Given the description of an element on the screen output the (x, y) to click on. 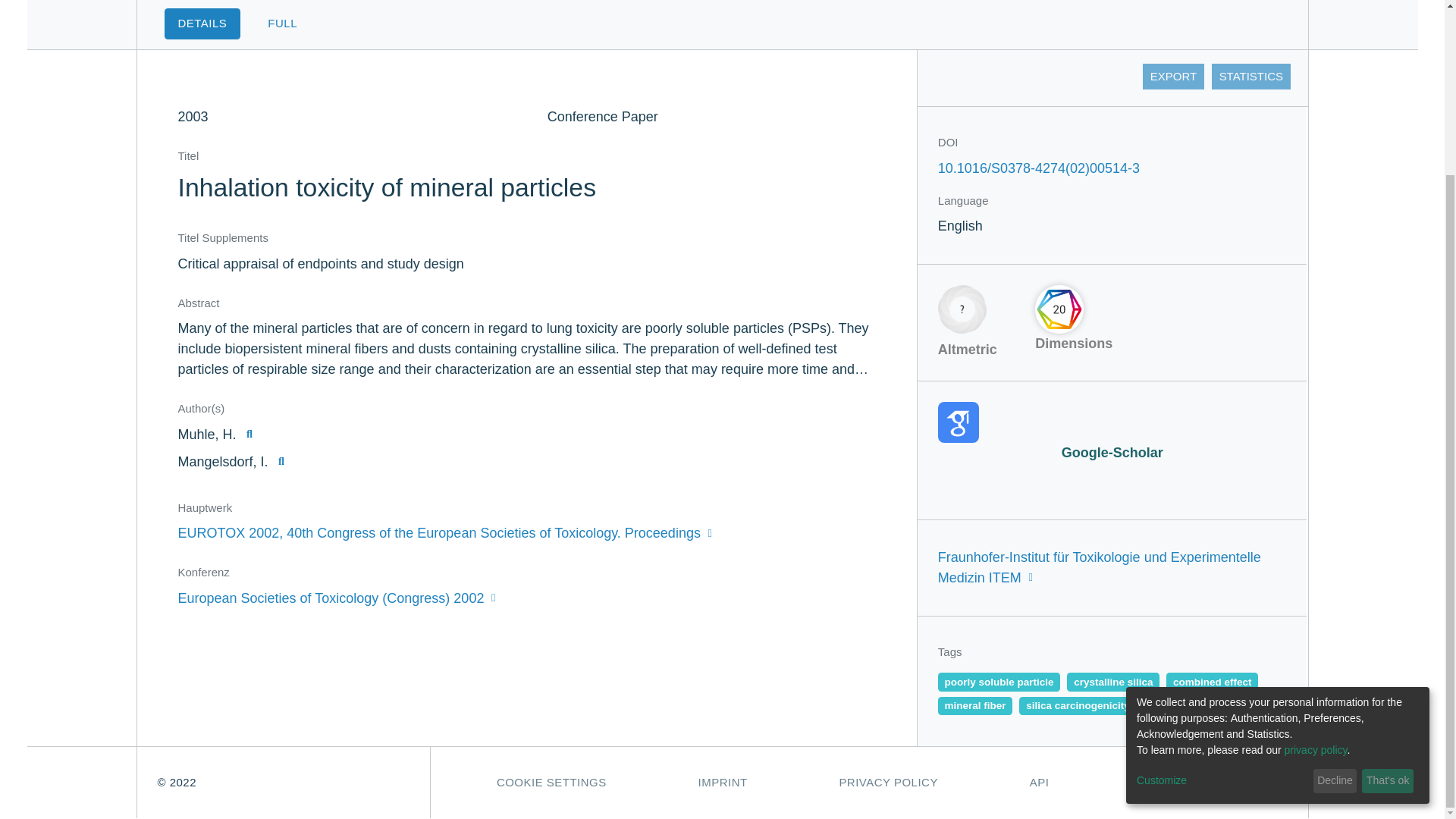
mineral fiber (975, 705)
poorly soluble particle (999, 681)
API (1039, 782)
PRIVACY POLICY (888, 782)
EXPORT (1173, 76)
silica carcinogenicity (1077, 705)
STATISTICS (1250, 76)
privacy policy (1316, 538)
DETAILS (201, 23)
20 (1059, 309)
Details (201, 23)
combined effect (1211, 681)
Google-Scholar (1112, 432)
COOKIE SETTINGS (550, 782)
